Given the description of an element on the screen output the (x, y) to click on. 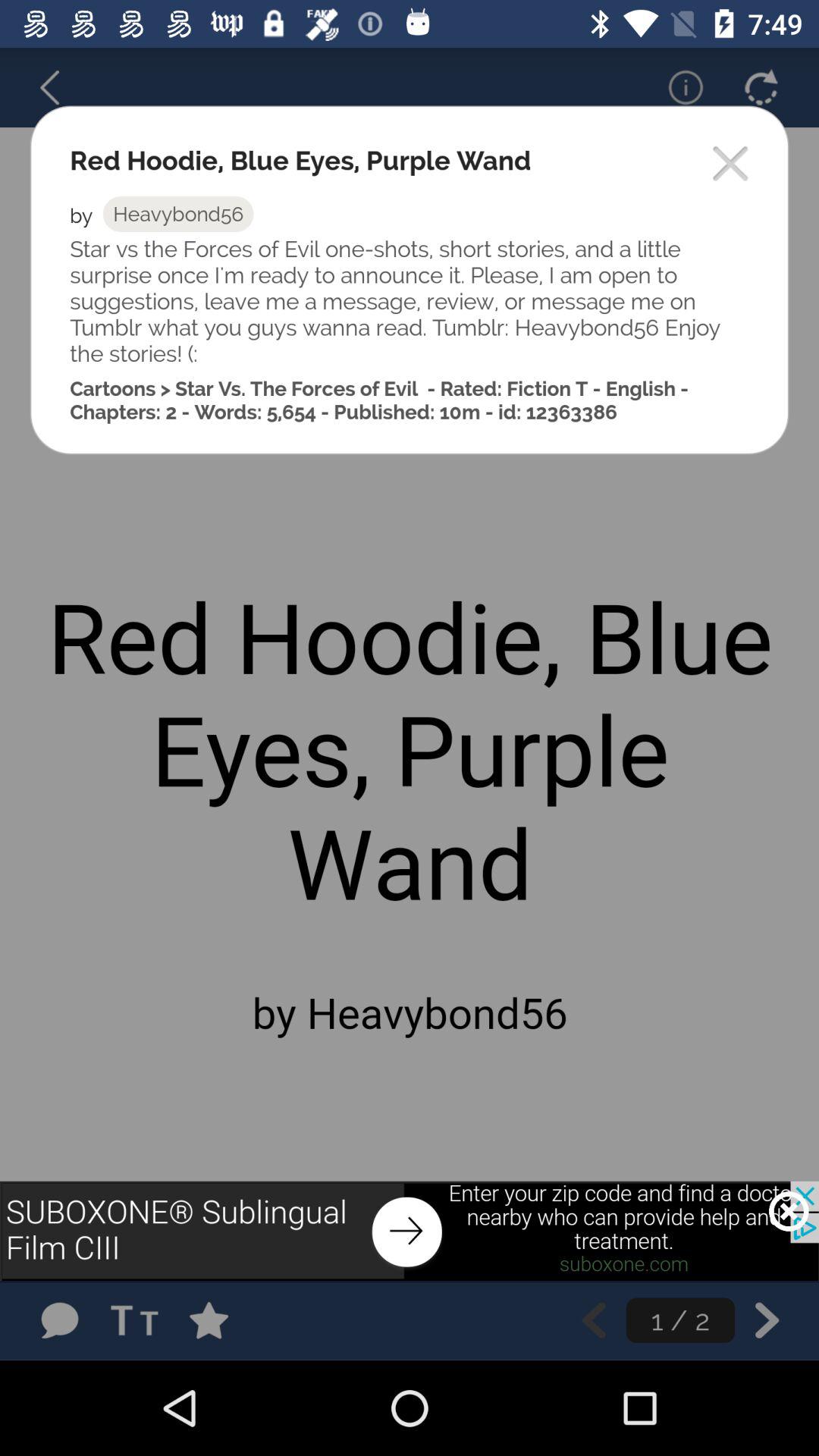
enter text (139, 1320)
